Given the description of an element on the screen output the (x, y) to click on. 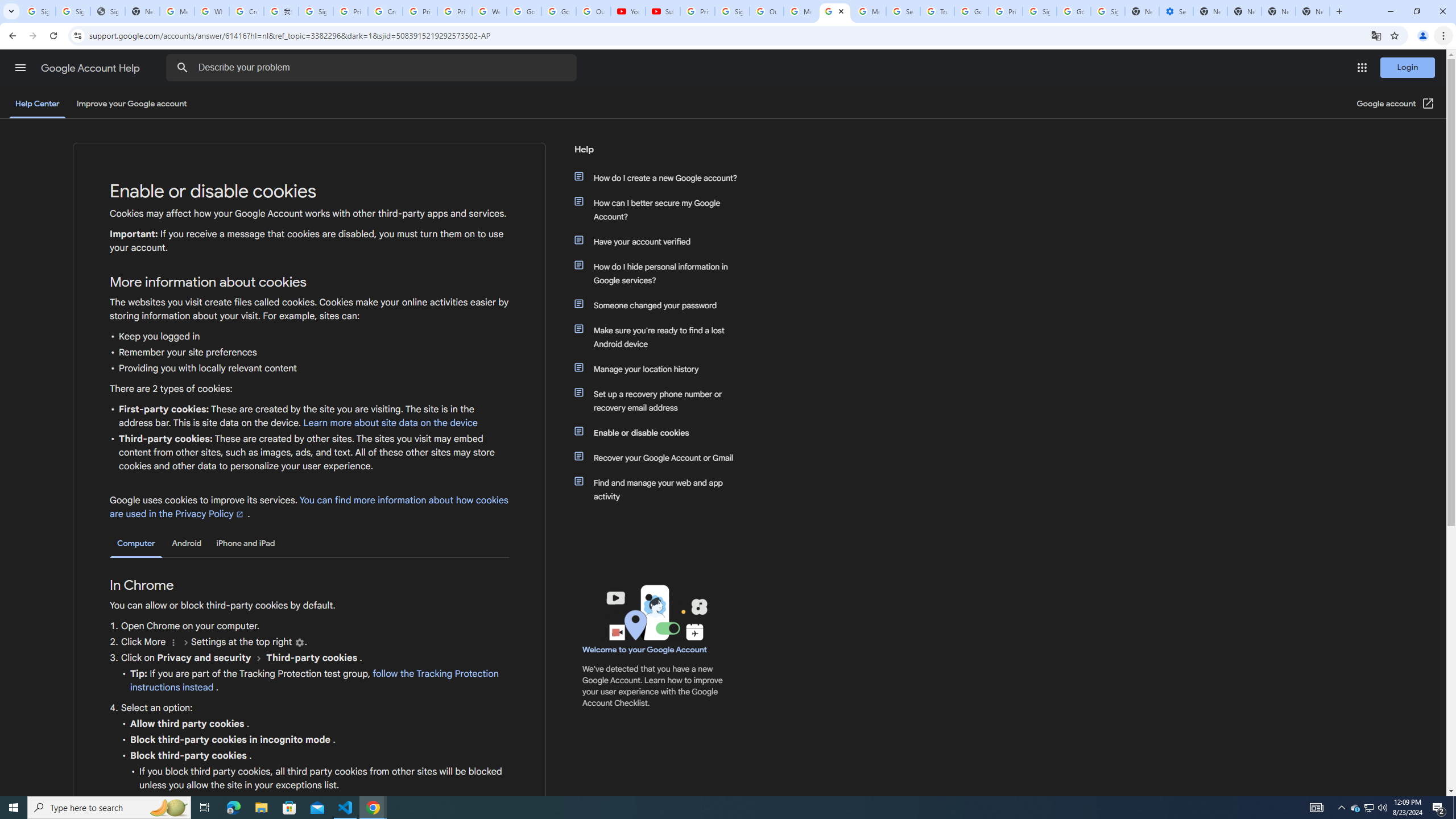
Trusted Information and Content - Google Safety Center (937, 11)
Help Center (36, 103)
Enable or disable cookies (661, 432)
New Tab (1312, 11)
Make sure you're ready to find a lost Android device (661, 336)
Google Ads - Sign in (970, 11)
Welcome to My Activity (489, 11)
Main menu (20, 67)
Recover your Google Account or Gmail (661, 457)
Turn cookies on or off - Computer - Google Account Help (834, 11)
